Given the description of an element on the screen output the (x, y) to click on. 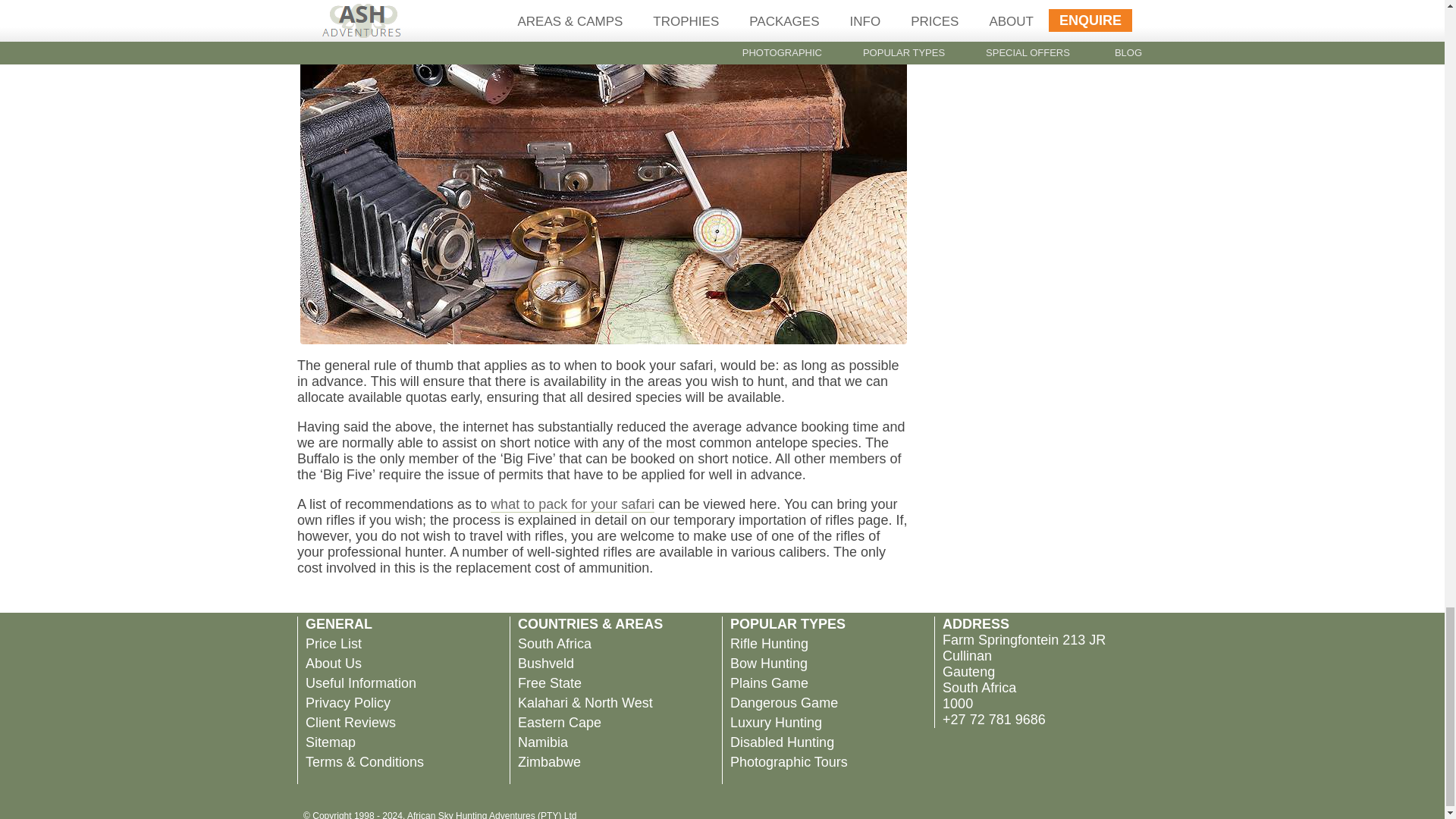
Bushveld (545, 662)
Useful Information (360, 682)
Free State (549, 682)
About Us (333, 662)
Sitemap (330, 741)
Client Reviews (350, 721)
Privacy Policy (347, 702)
Price List (333, 642)
what to pack for your safari (571, 503)
Eastern Cape (559, 721)
South Africa (554, 642)
